Given the description of an element on the screen output the (x, y) to click on. 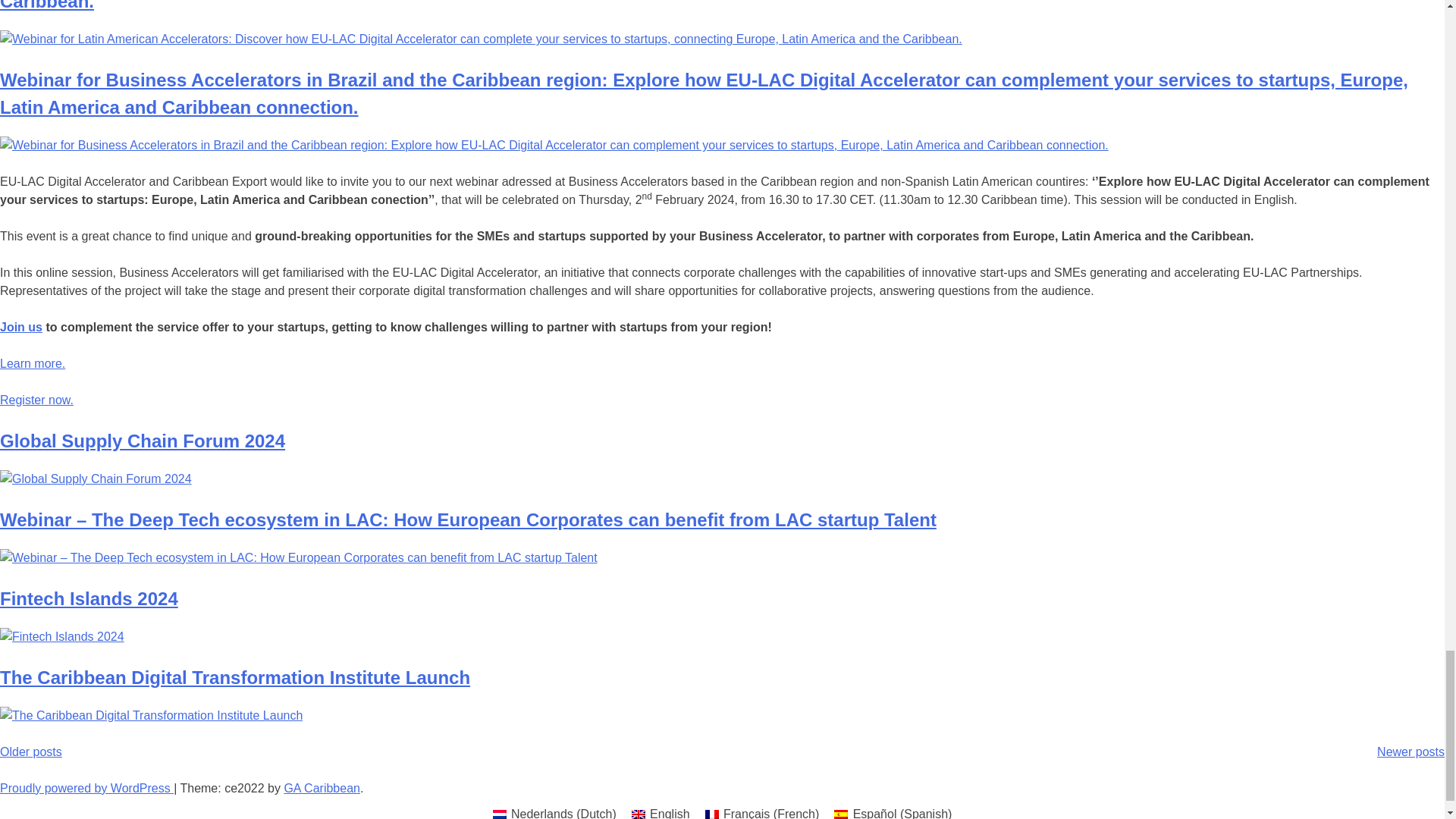
Learn more. (32, 363)
Global Supply Chain Forum 2024 (142, 440)
Register now. (37, 399)
Join us (21, 327)
